Given the description of an element on the screen output the (x, y) to click on. 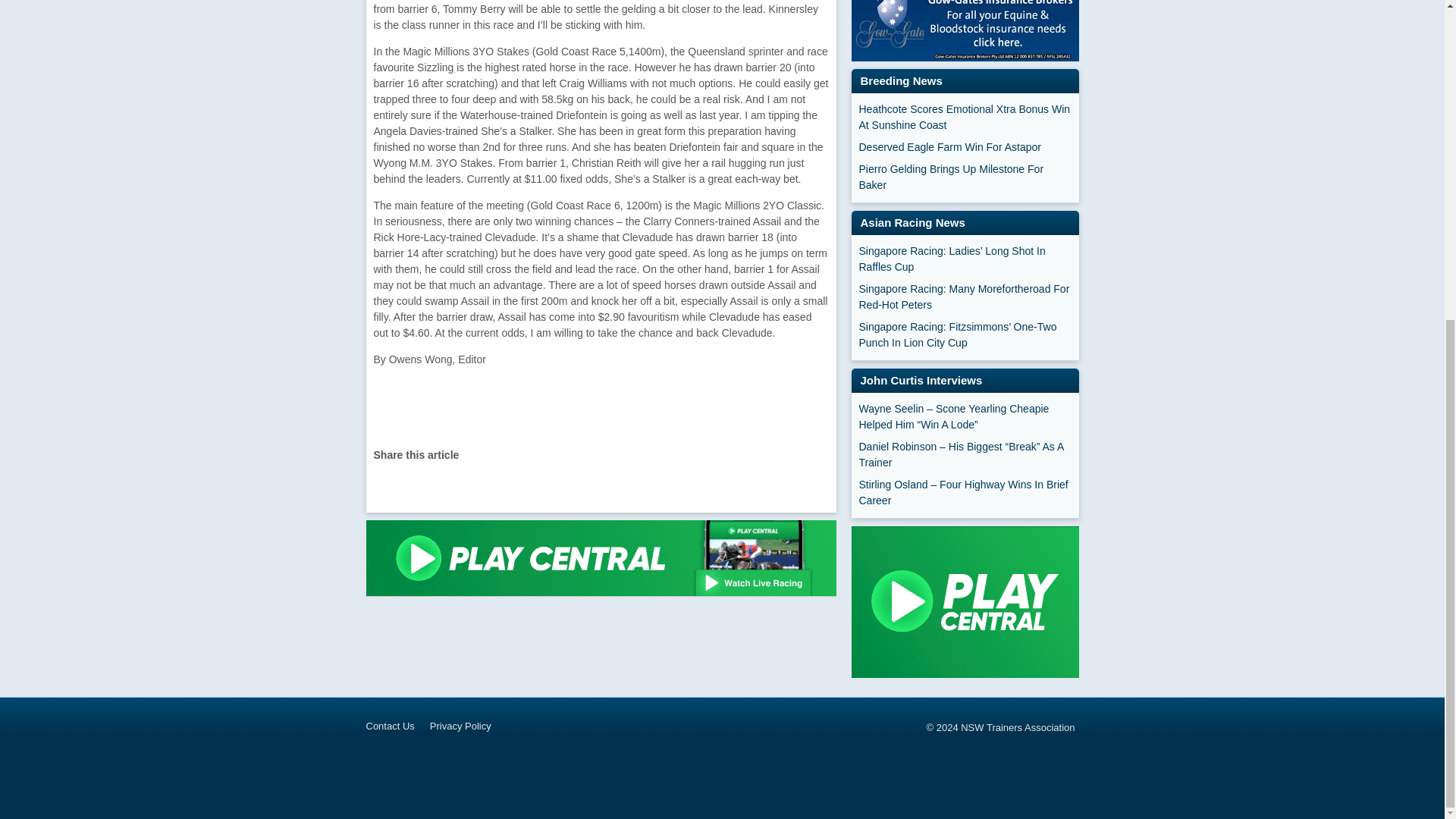
Contact Us (397, 726)
Heathcote Scores Emotional Xtra Bonus Win At Sunshine Coast (964, 117)
Privacy Policy (467, 726)
Deserved Eagle Farm Win For Astapor (964, 147)
Asian Racing News (911, 222)
Breeding News (901, 80)
John Curtis Interviews (920, 379)
Pierro Gelding Brings Up Milestone For Baker (964, 177)
Singapore Racing: Many Morefortheroad For Red-Hot Peters (964, 296)
